Given the description of an element on the screen output the (x, y) to click on. 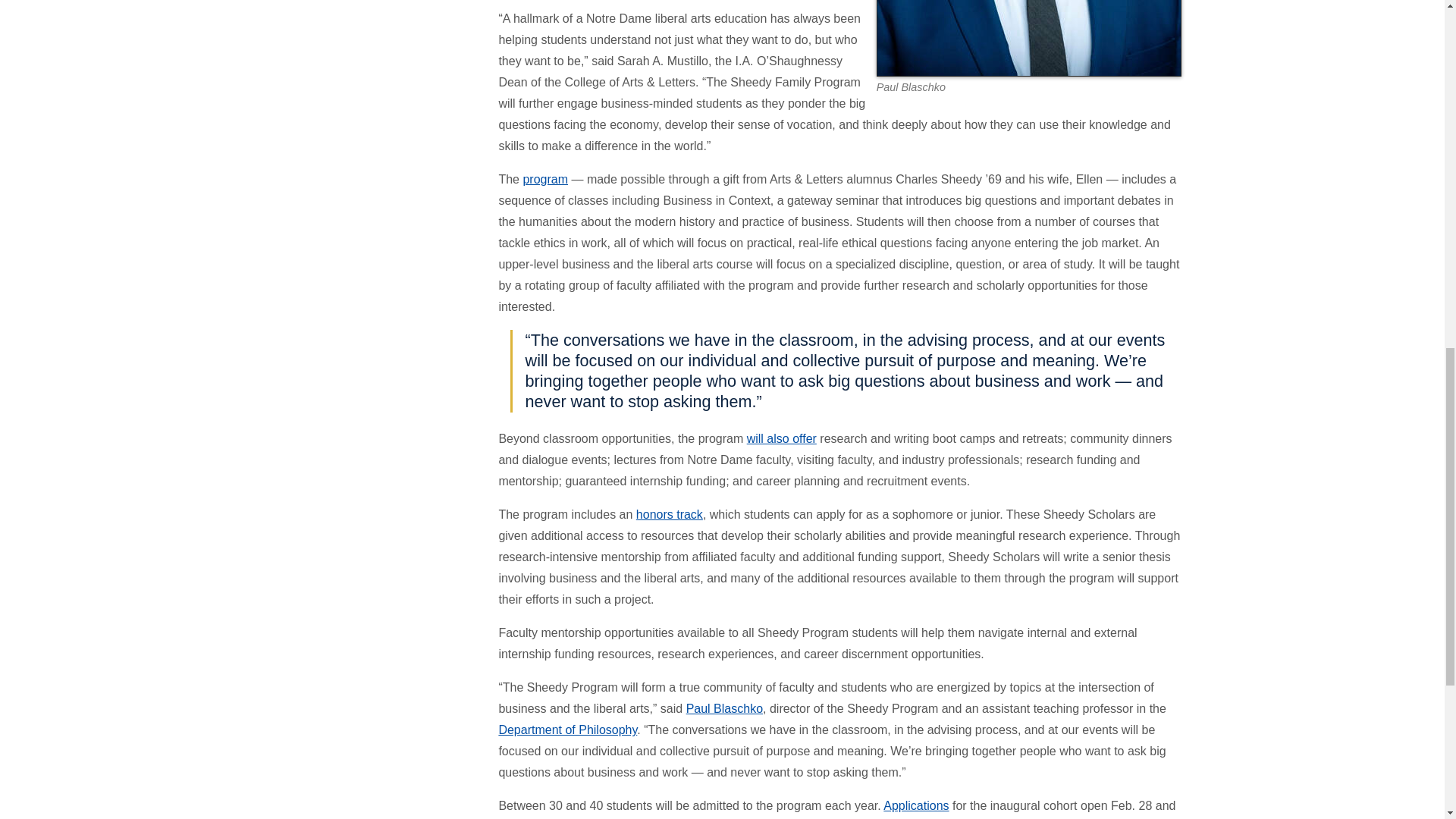
Applications (916, 805)
honors track (669, 513)
Department of Philosophy (567, 729)
program (544, 178)
will also offer (781, 438)
Paul Blaschko (723, 707)
